Given the description of an element on the screen output the (x, y) to click on. 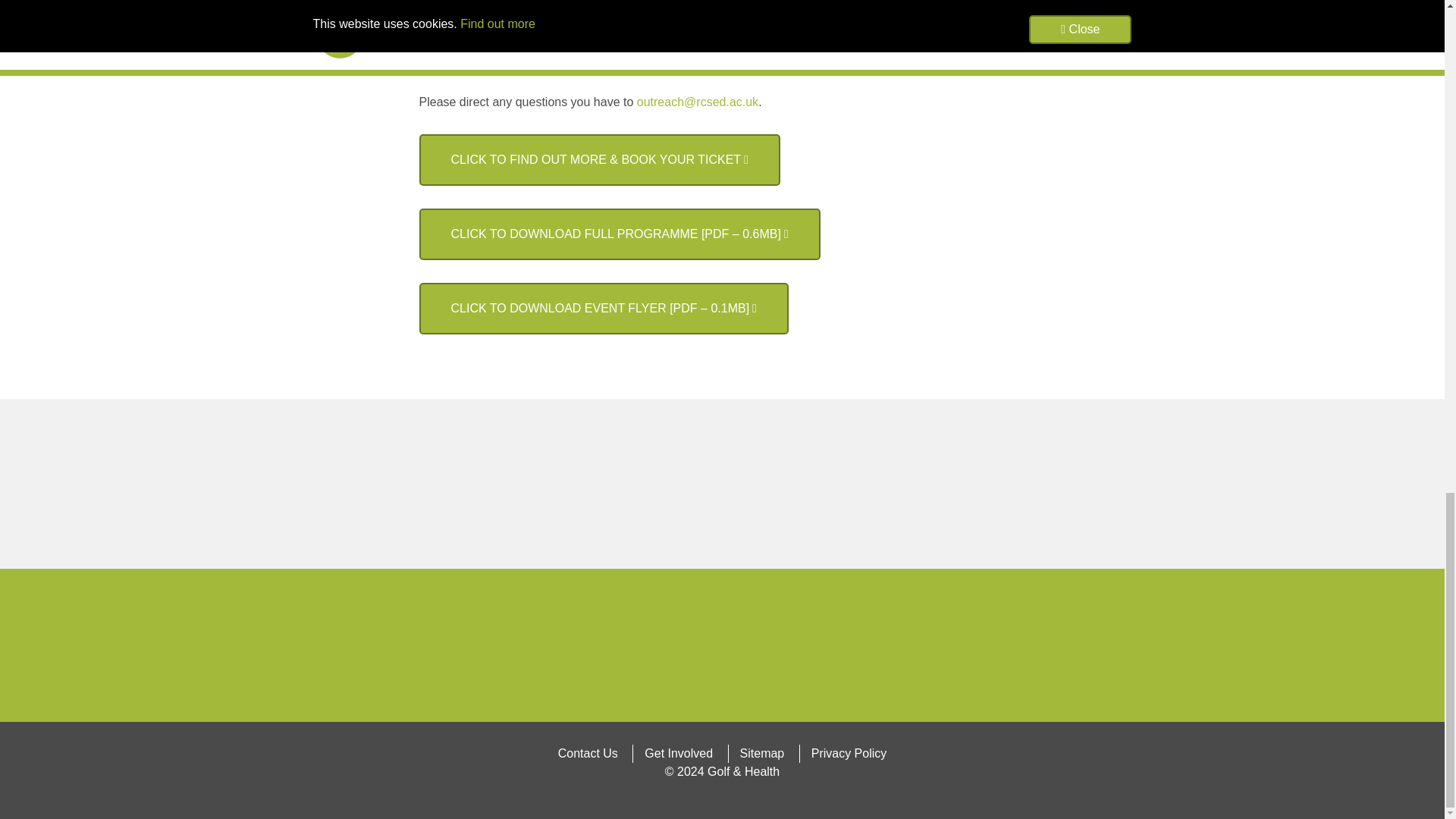
Contact Us (587, 753)
Get Involved (678, 753)
Sitemap (762, 753)
Privacy Policy (848, 753)
